Given the description of an element on the screen output the (x, y) to click on. 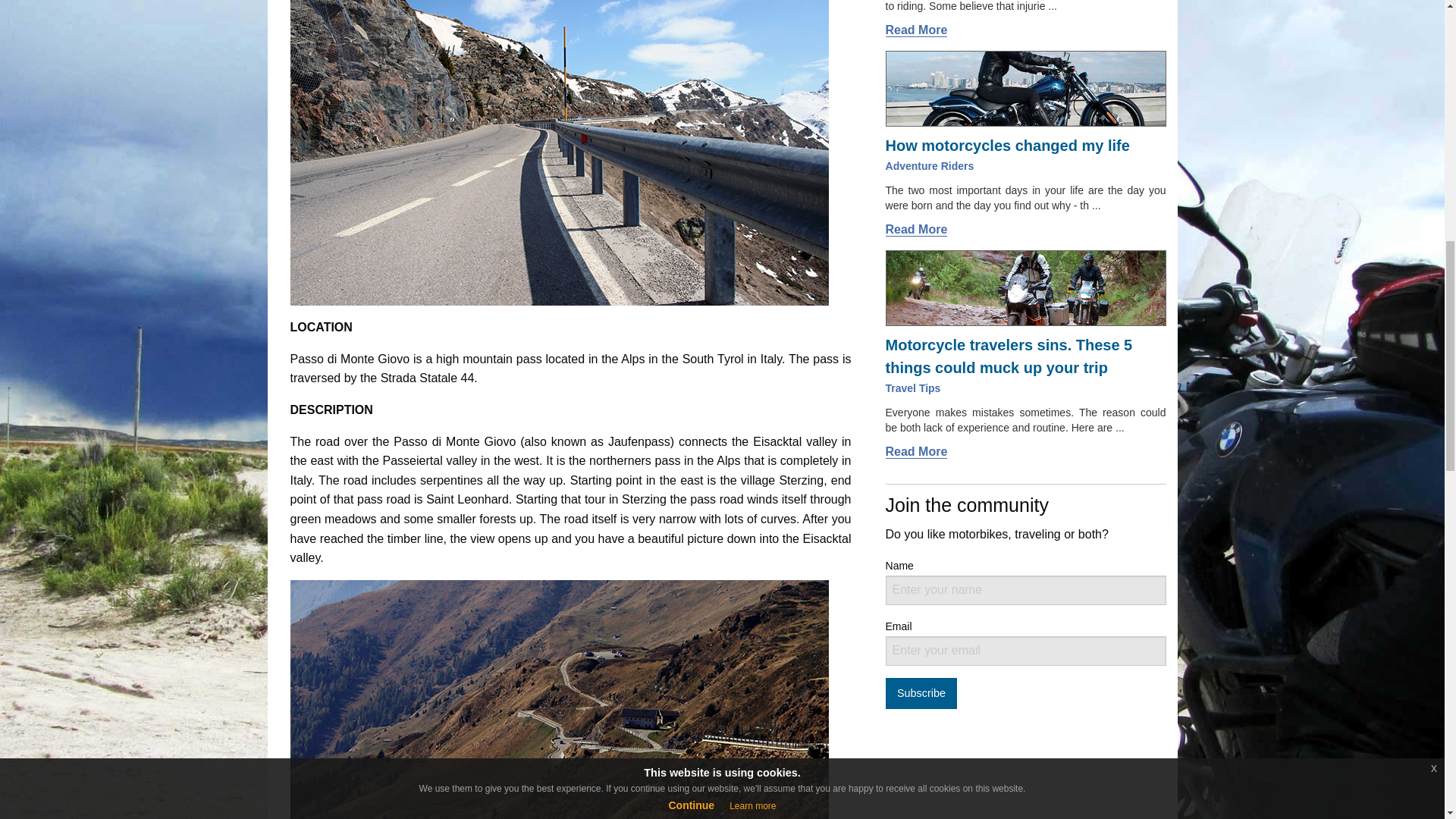
Read More (916, 451)
Read More (916, 29)
Subscribe (921, 693)
Read More (916, 229)
Adventure Riders (929, 165)
How motorcycles changed my life (1007, 145)
Travel Tips (912, 387)
